Given the description of an element on the screen output the (x, y) to click on. 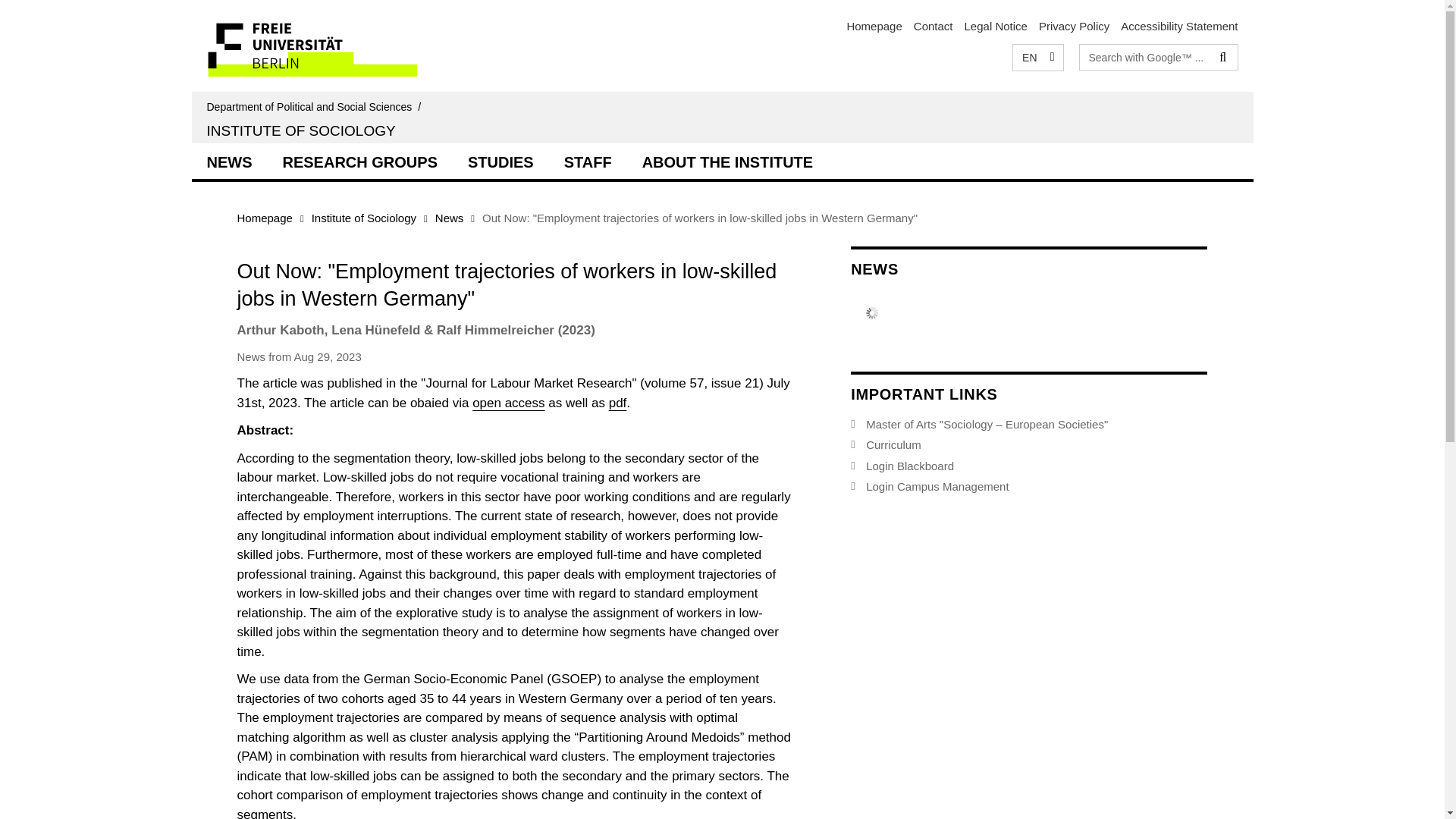
Legal Notice (995, 25)
Please enter search term here (1144, 56)
ABOUT THE INSTITUTE (727, 160)
open access (507, 402)
Institute of Sociology (363, 216)
loading... (500, 160)
NEWS (228, 160)
News (449, 216)
Contact (933, 25)
Homepage (873, 25)
loading... (727, 160)
STAFF (587, 160)
To the Homepage of:  (316, 106)
Privacy Policy (1074, 25)
